Given the description of an element on the screen output the (x, y) to click on. 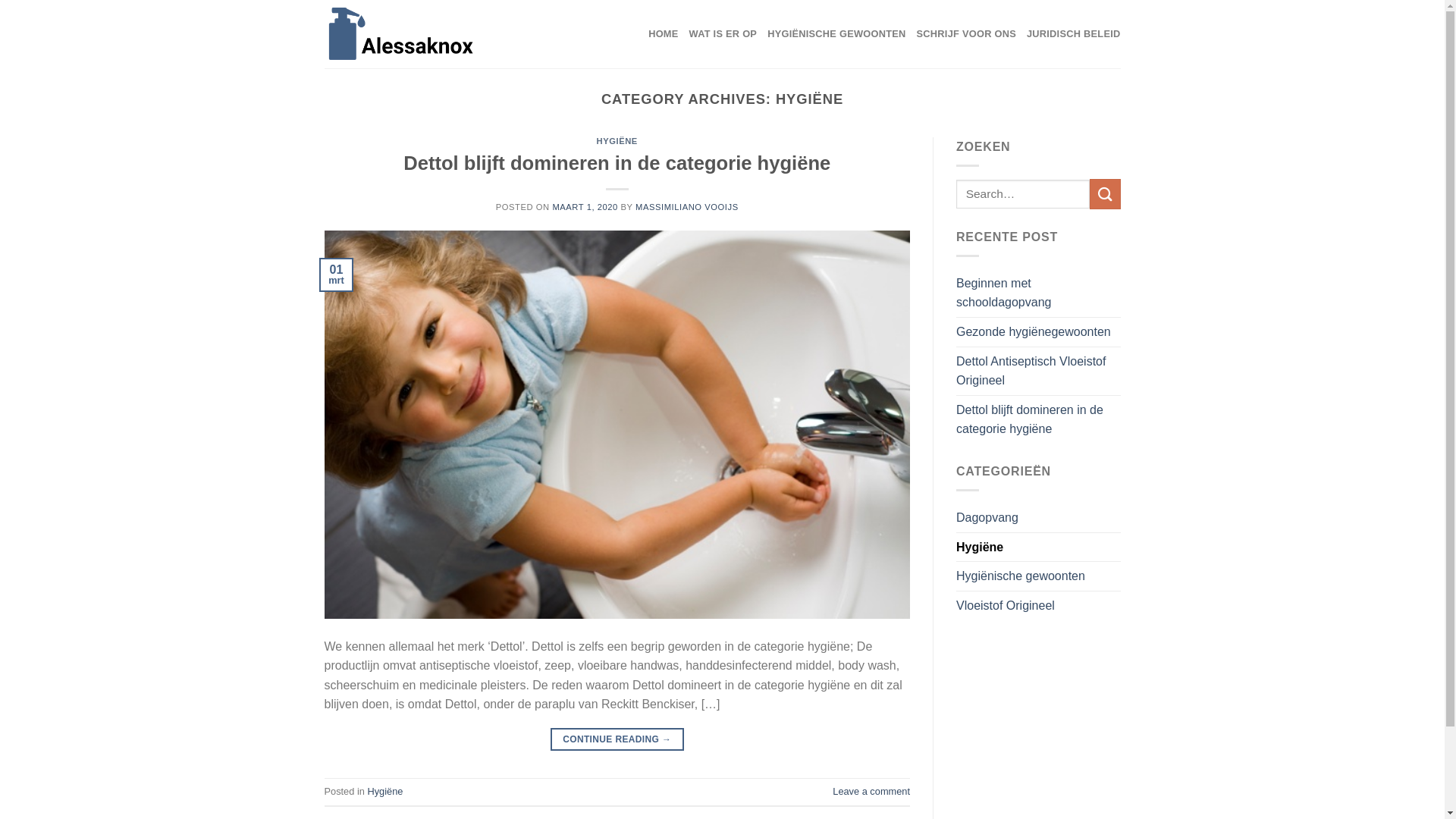
MASSIMILIANO VOOIJS Element type: text (686, 206)
Vloeistof Origineel Element type: text (1005, 605)
HOME Element type: text (662, 33)
Dagopvang Element type: text (987, 517)
Beginnen met schooldagopvang Element type: text (1038, 292)
Leave a comment Element type: text (871, 791)
SCHRIJF VOOR ONS Element type: text (966, 33)
Dettol Antiseptisch Vloeistof Origineel Element type: text (1038, 371)
WAT IS ER OP Element type: text (723, 33)
MAART 1, 2020 Element type: text (584, 206)
JURIDISCH BELEID Element type: text (1073, 33)
